Given the description of an element on the screen output the (x, y) to click on. 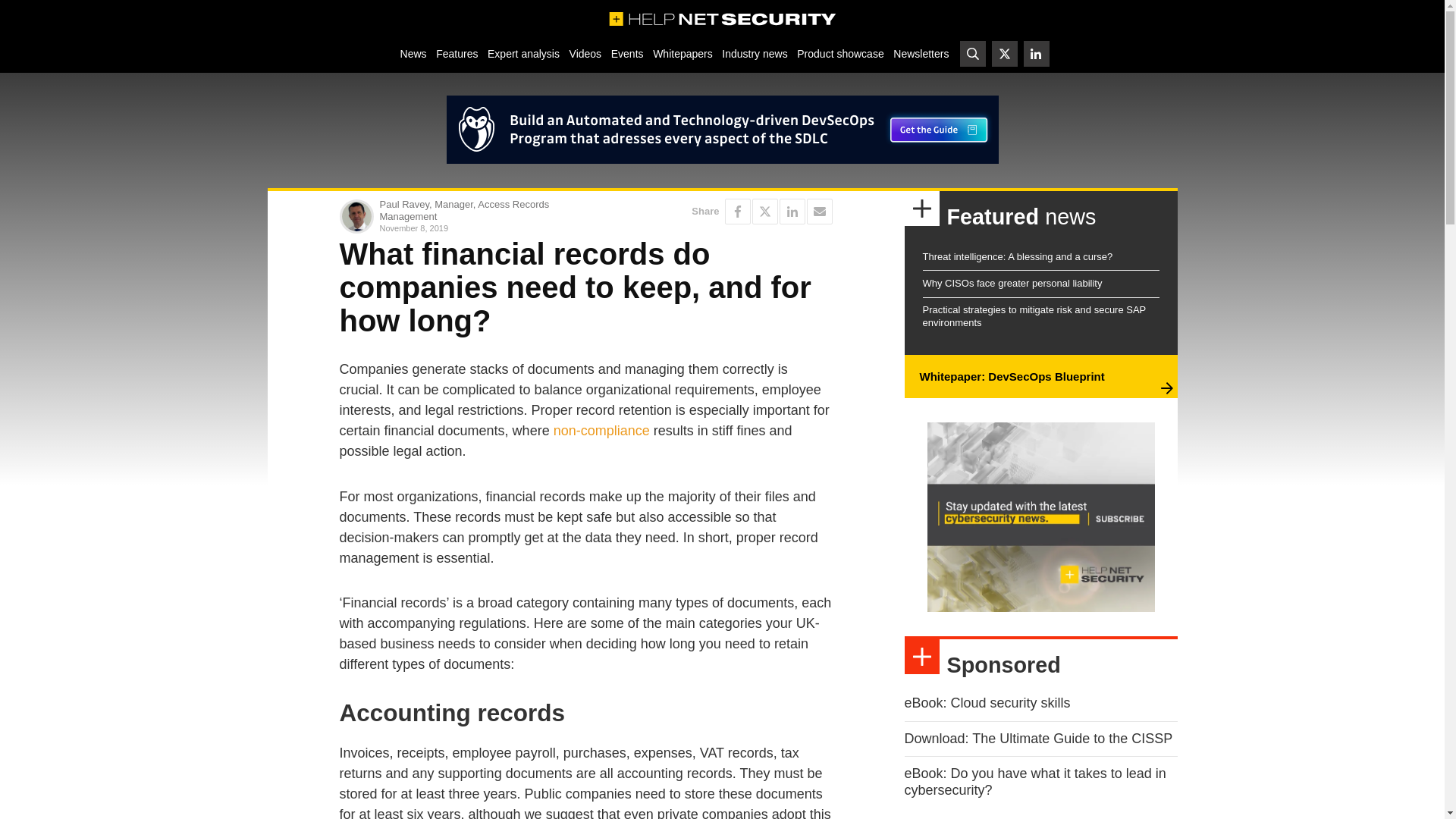
Videos (584, 53)
Industry news (754, 53)
November 8, 2019 (478, 227)
Newsletters (920, 53)
non-compliance (601, 430)
Threat intelligence: A blessing and a curse? (1016, 256)
